Given the description of an element on the screen output the (x, y) to click on. 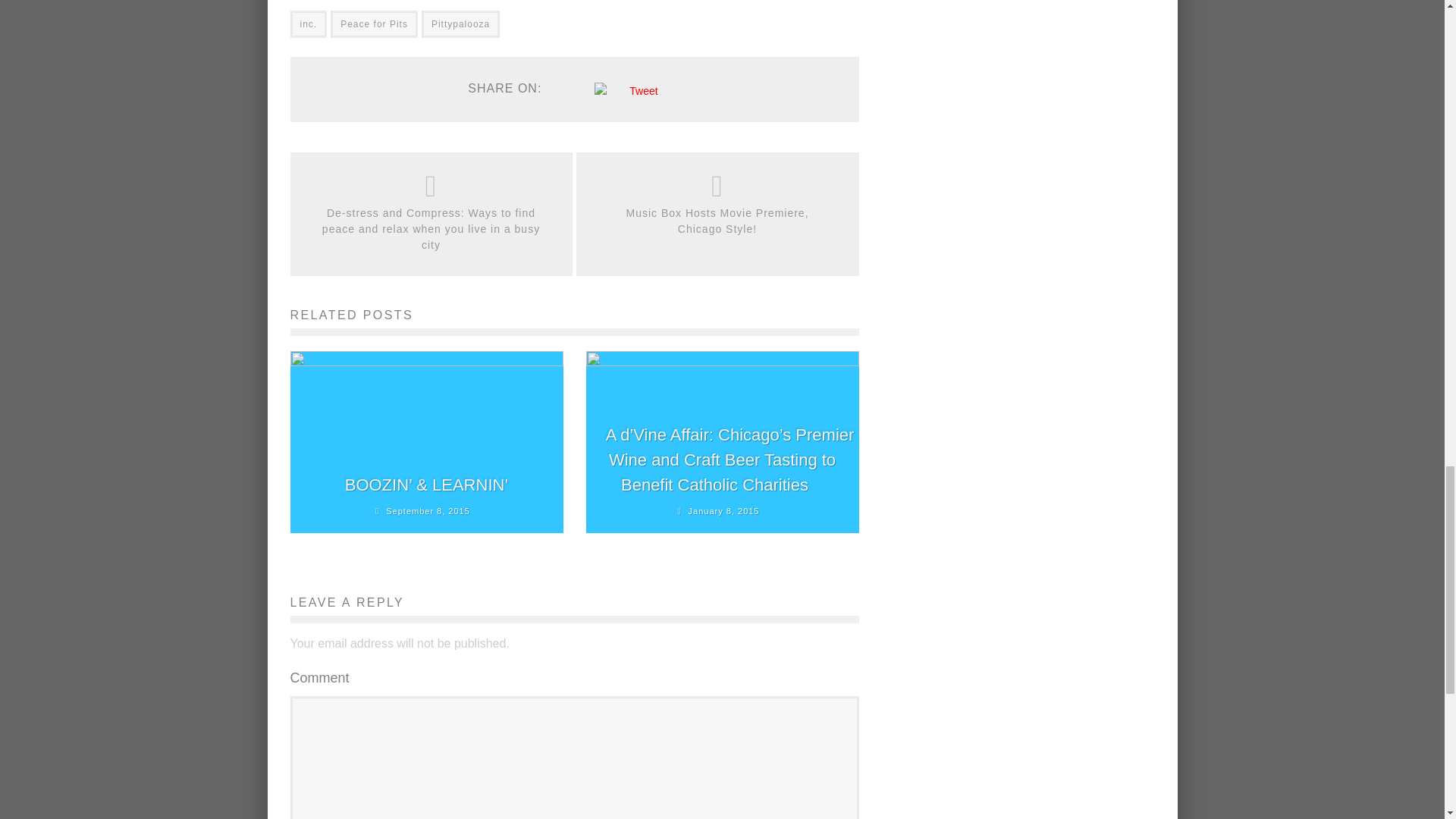
Peace for Pits (373, 23)
Pittypalooza (460, 23)
Tweet (643, 91)
Music Box Hosts Movie Premiere, Chicago Style! (717, 220)
inc. (307, 23)
